Given the description of an element on the screen output the (x, y) to click on. 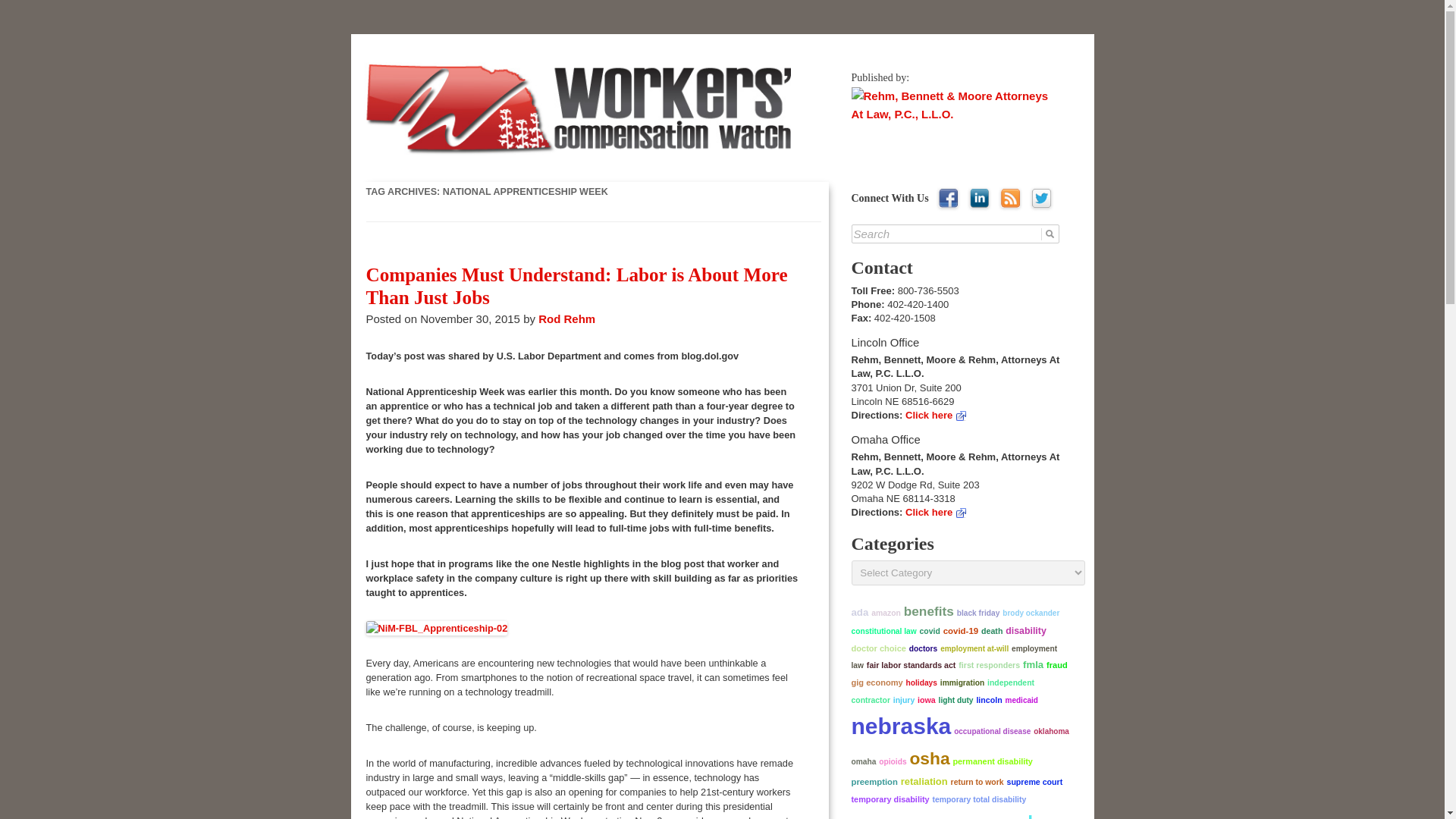
Workers' Compensation Watch (523, 62)
Link to my Rss Page (1010, 200)
View all posts by Rod Rehm (566, 318)
Search (955, 233)
Link to my Facebook Page (948, 200)
Link to my Linkedin Page (978, 200)
Rod Rehm (566, 318)
Workers' Compensation Watch (523, 62)
